Given the description of an element on the screen output the (x, y) to click on. 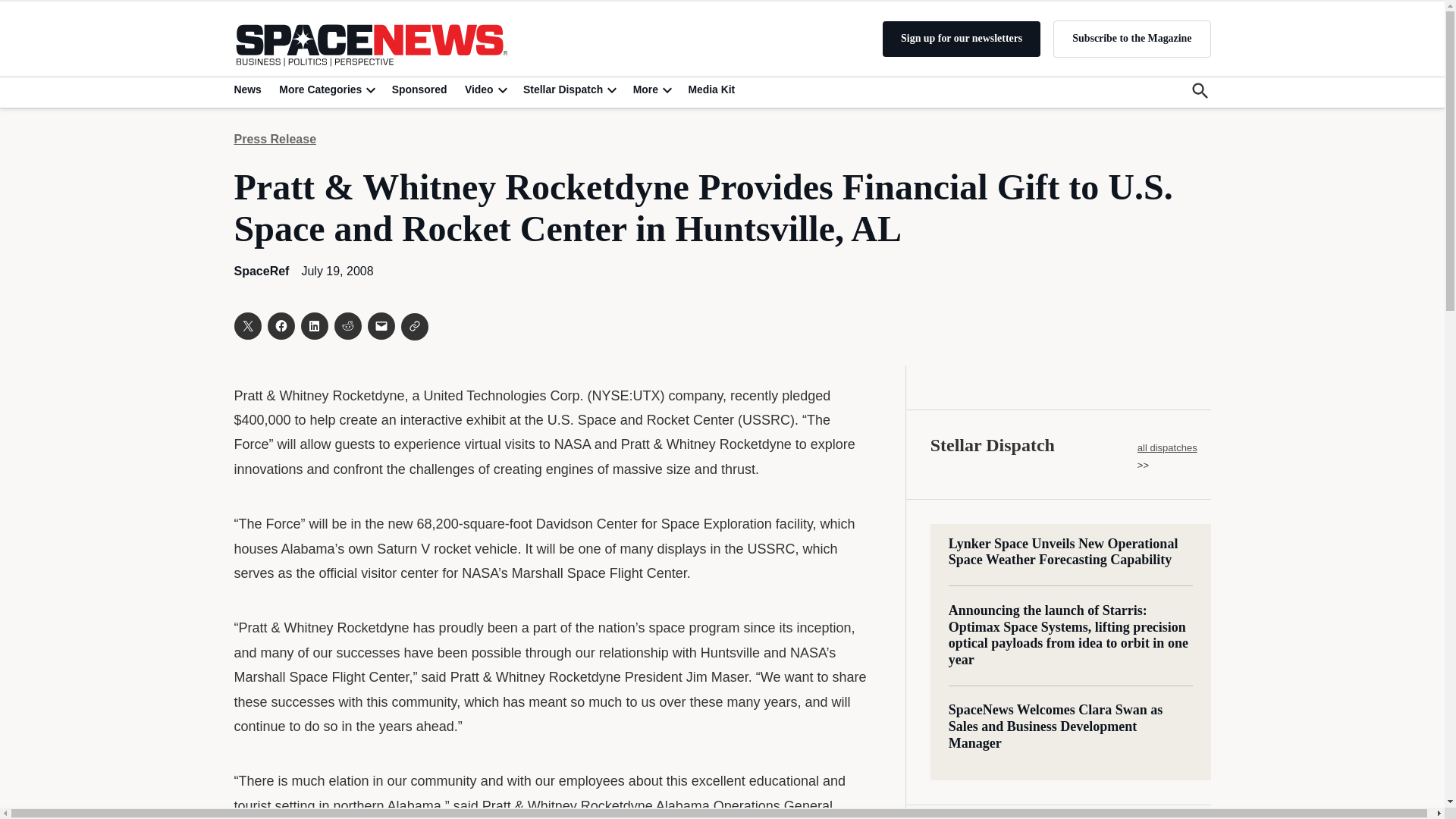
Click to email a link to a friend (380, 325)
Click to share on Facebook (280, 325)
Click to share on Clipboard (414, 326)
Click to share on X (246, 325)
Click to share on Reddit (347, 325)
Click to share on LinkedIn (313, 325)
